Given the description of an element on the screen output the (x, y) to click on. 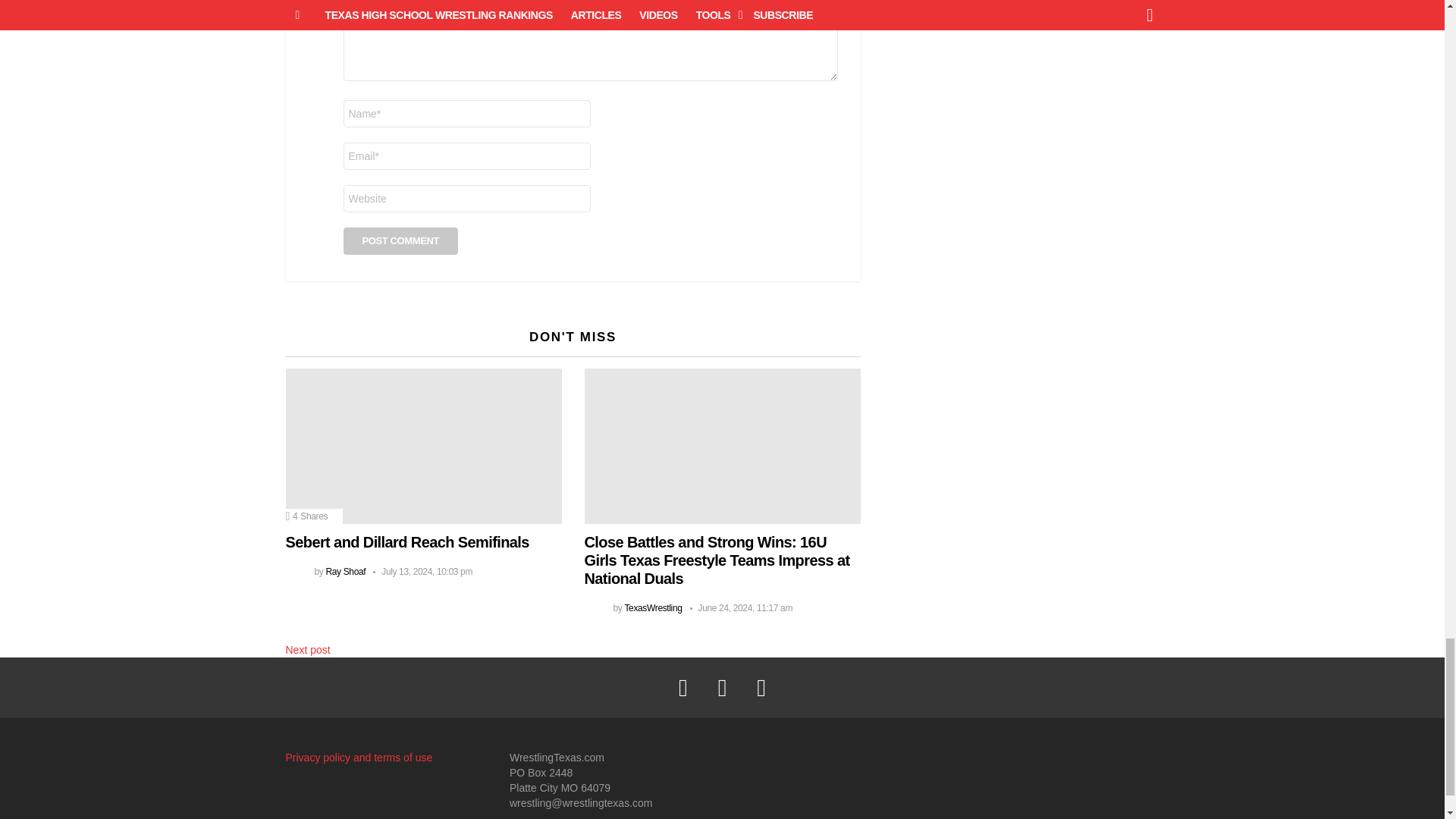
Post Comment (400, 240)
